Given the description of an element on the screen output the (x, y) to click on. 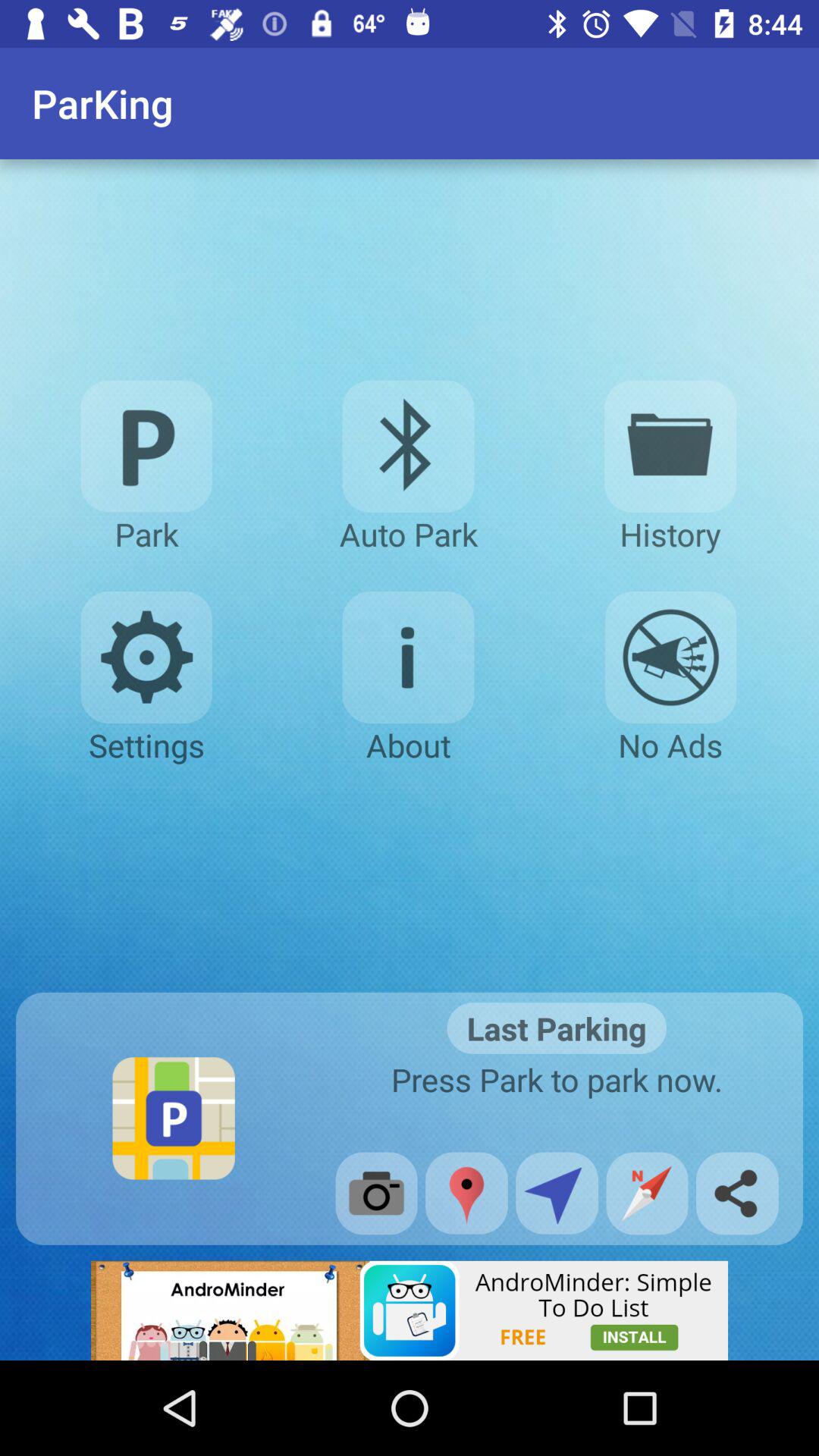
click the bluetooth option (408, 446)
